Given the description of an element on the screen output the (x, y) to click on. 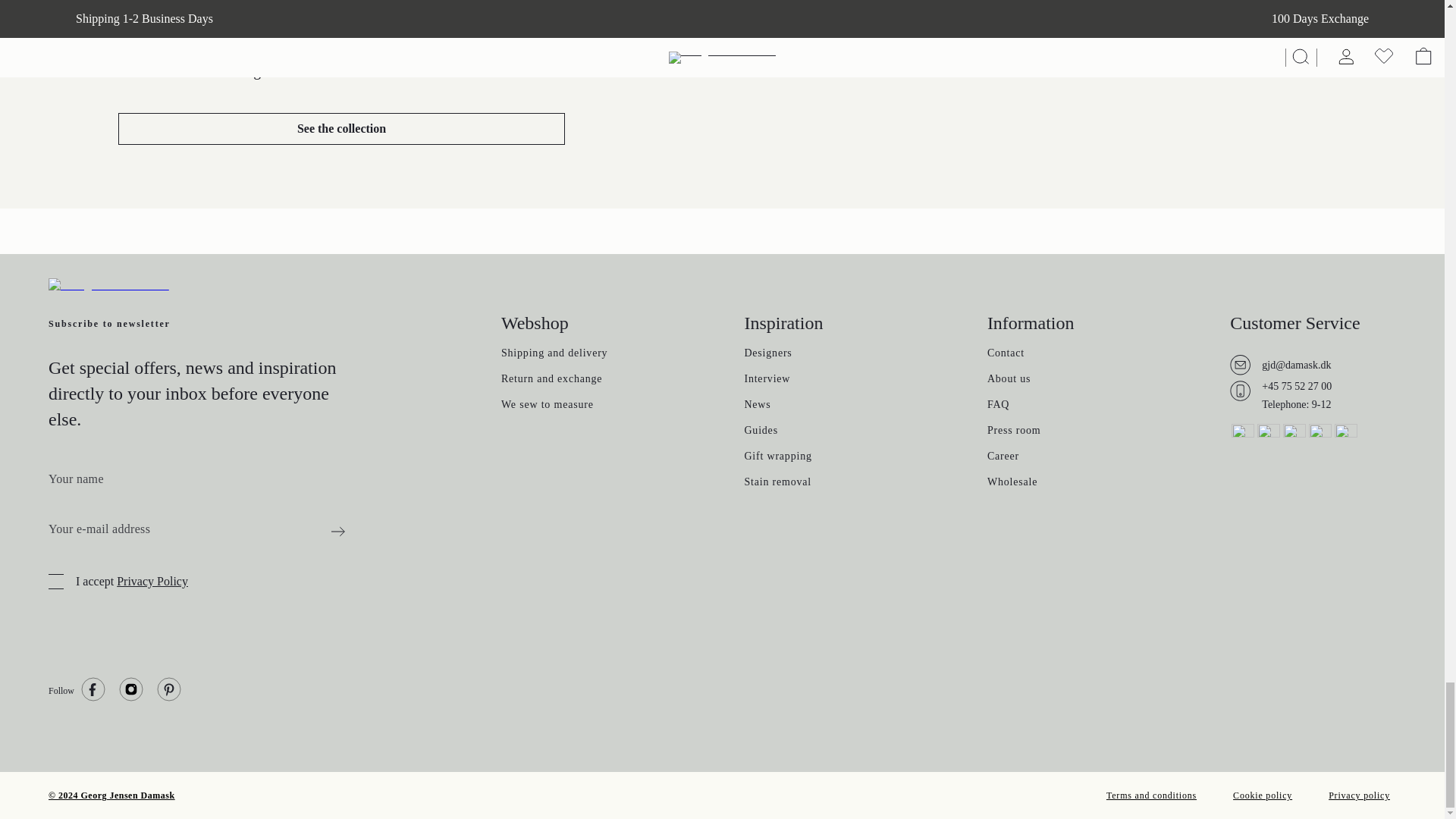
Shipping and delivery (553, 354)
About us (1008, 380)
Privacy Policy (151, 581)
on (56, 581)
Stain removal (777, 483)
We sew to measure (547, 406)
News (757, 406)
Return and exchange (551, 380)
Designers (768, 354)
Guides (760, 431)
Press room (1014, 431)
See the collection (340, 128)
Contact (1006, 354)
Interview (767, 380)
Gift wrapping (777, 458)
